Given the description of an element on the screen output the (x, y) to click on. 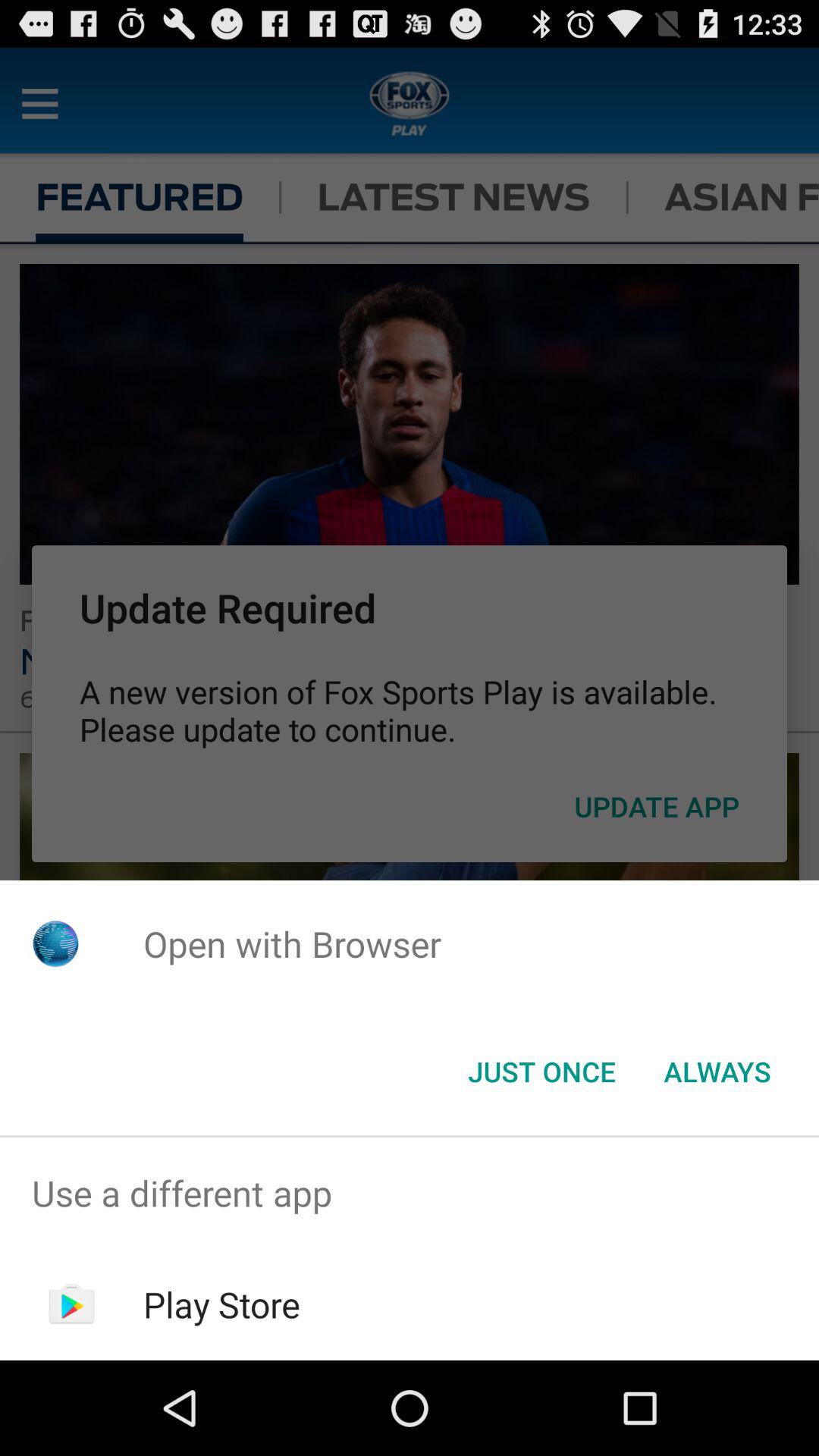
flip until play store (221, 1304)
